Given the description of an element on the screen output the (x, y) to click on. 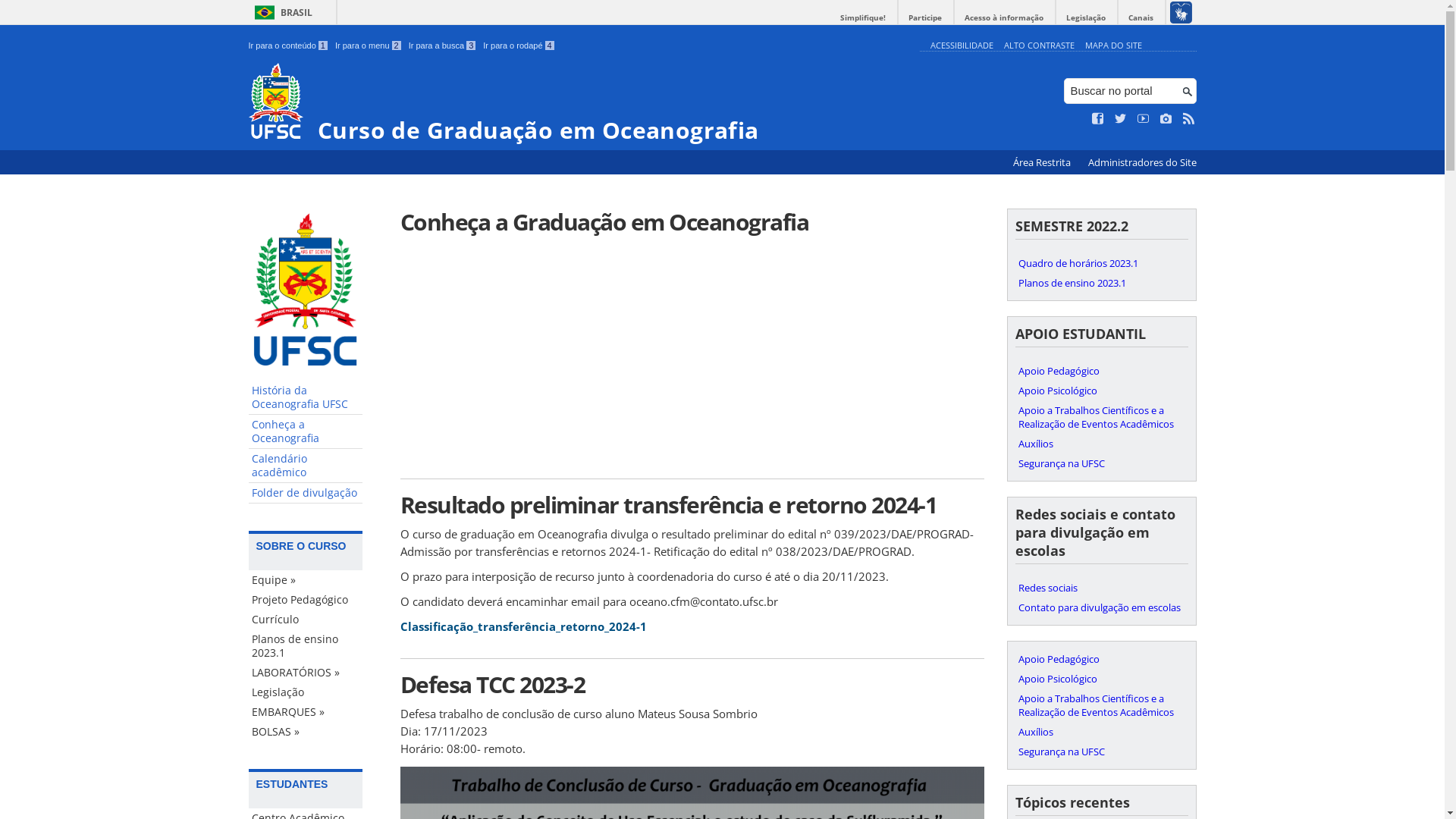
Curta no Facebook Element type: hover (1098, 118)
Ir para o menu 2 Element type: text (368, 45)
Planos de ensino 2023.1 Element type: text (1100, 282)
ACESSIBILIDADE Element type: text (960, 44)
Planos de ensino 2023.1 Element type: text (305, 645)
Veja no Instagram Element type: hover (1166, 118)
Simplifique! Element type: text (862, 18)
Defesa TCC 2023-2 Element type: text (692, 684)
MAPA DO SITE Element type: text (1112, 44)
Ir para a busca 3 Element type: text (442, 45)
ALTO CONTRASTE Element type: text (1039, 44)
Participe Element type: text (924, 18)
BRASIL Element type: text (280, 12)
Canais Element type: text (1140, 18)
Siga no Twitter Element type: hover (1120, 118)
Administradores do Site Element type: text (1141, 162)
Redes sociais Element type: text (1100, 587)
